Given the description of an element on the screen output the (x, y) to click on. 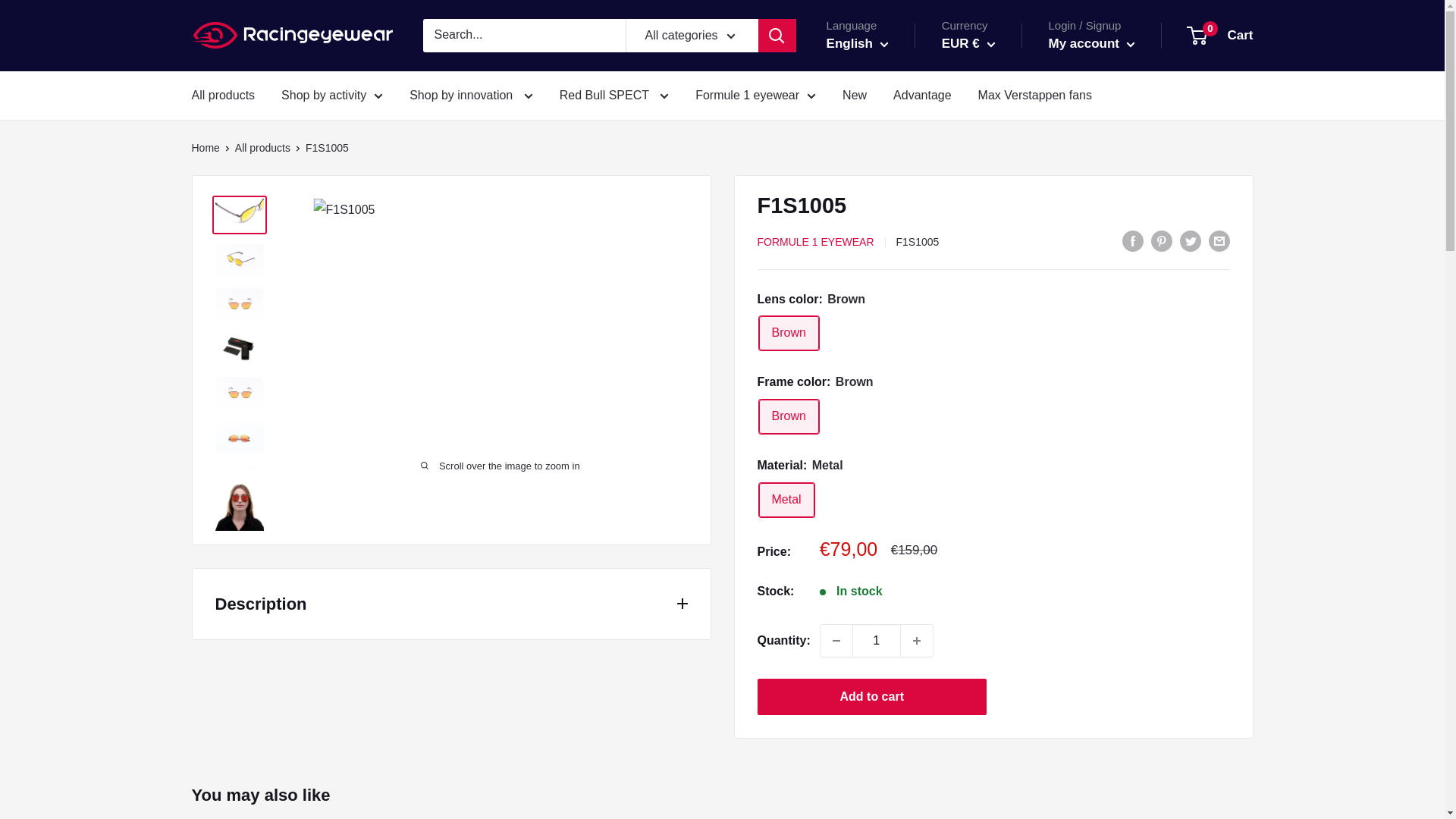
Brown (788, 416)
1 (876, 640)
Metal (785, 499)
Decrease quantity by 1 (836, 640)
Brown (788, 333)
Increase quantity by 1 (917, 640)
